Given the description of an element on the screen output the (x, y) to click on. 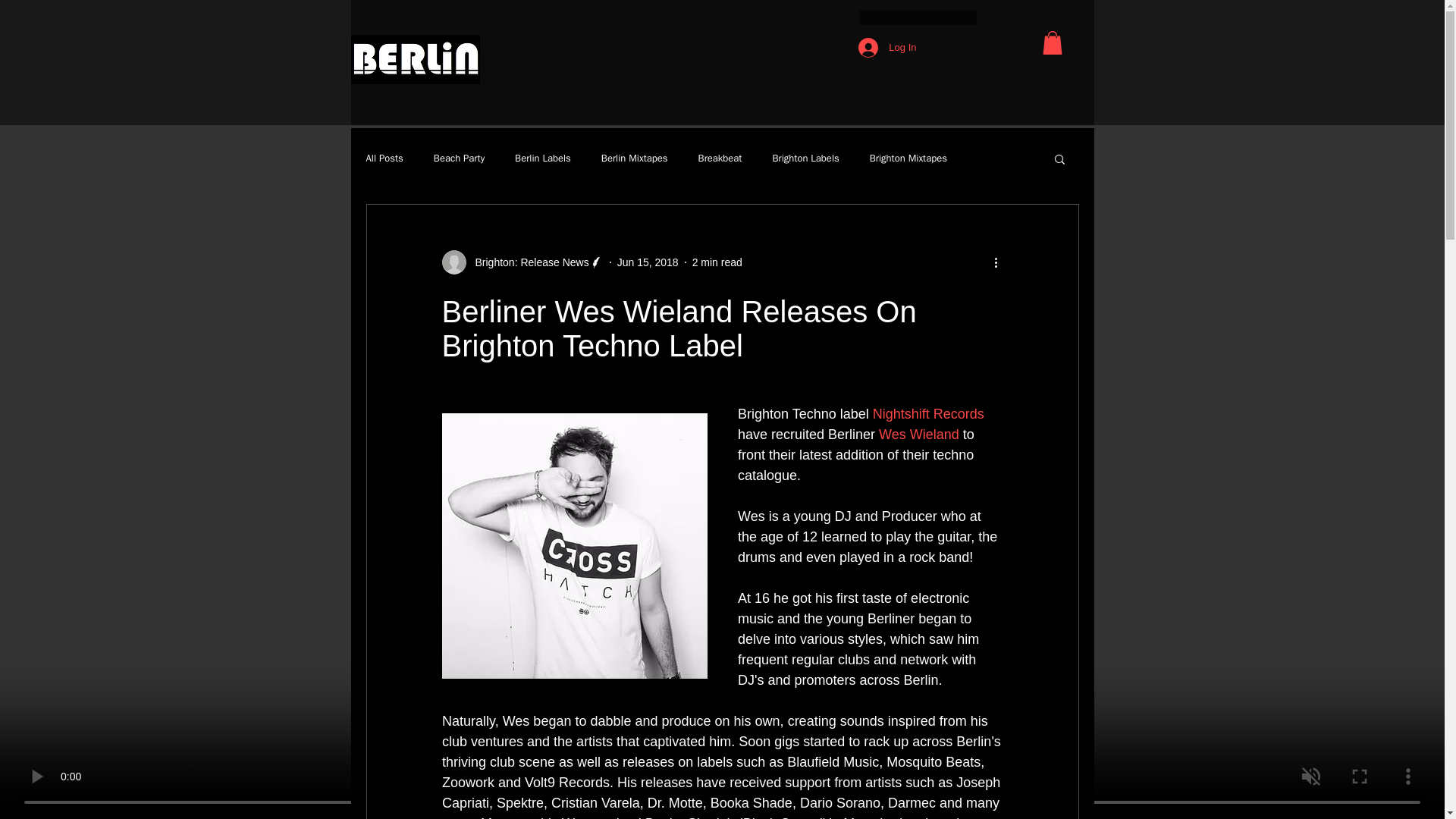
Brighton Mixtapes (908, 158)
2 min read (717, 262)
Brighton: Release News (526, 262)
Berlin Labels (542, 158)
Log In (886, 47)
Jun 15, 2018 (647, 262)
Breakbeat (720, 158)
Berlin Mixtapes (634, 158)
All Posts (384, 158)
Brighton Labels (804, 158)
